Given the description of an element on the screen output the (x, y) to click on. 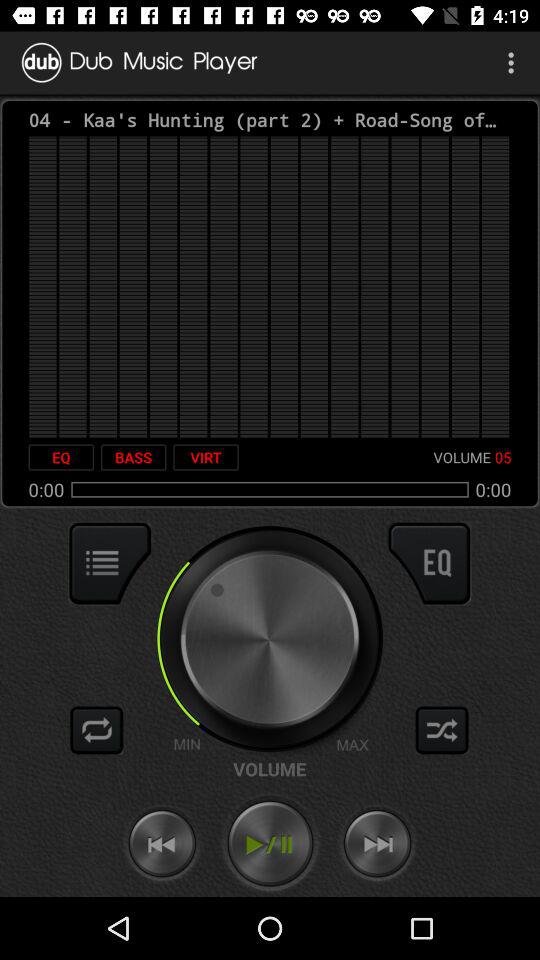
open menu option (110, 563)
